Given the description of an element on the screen output the (x, y) to click on. 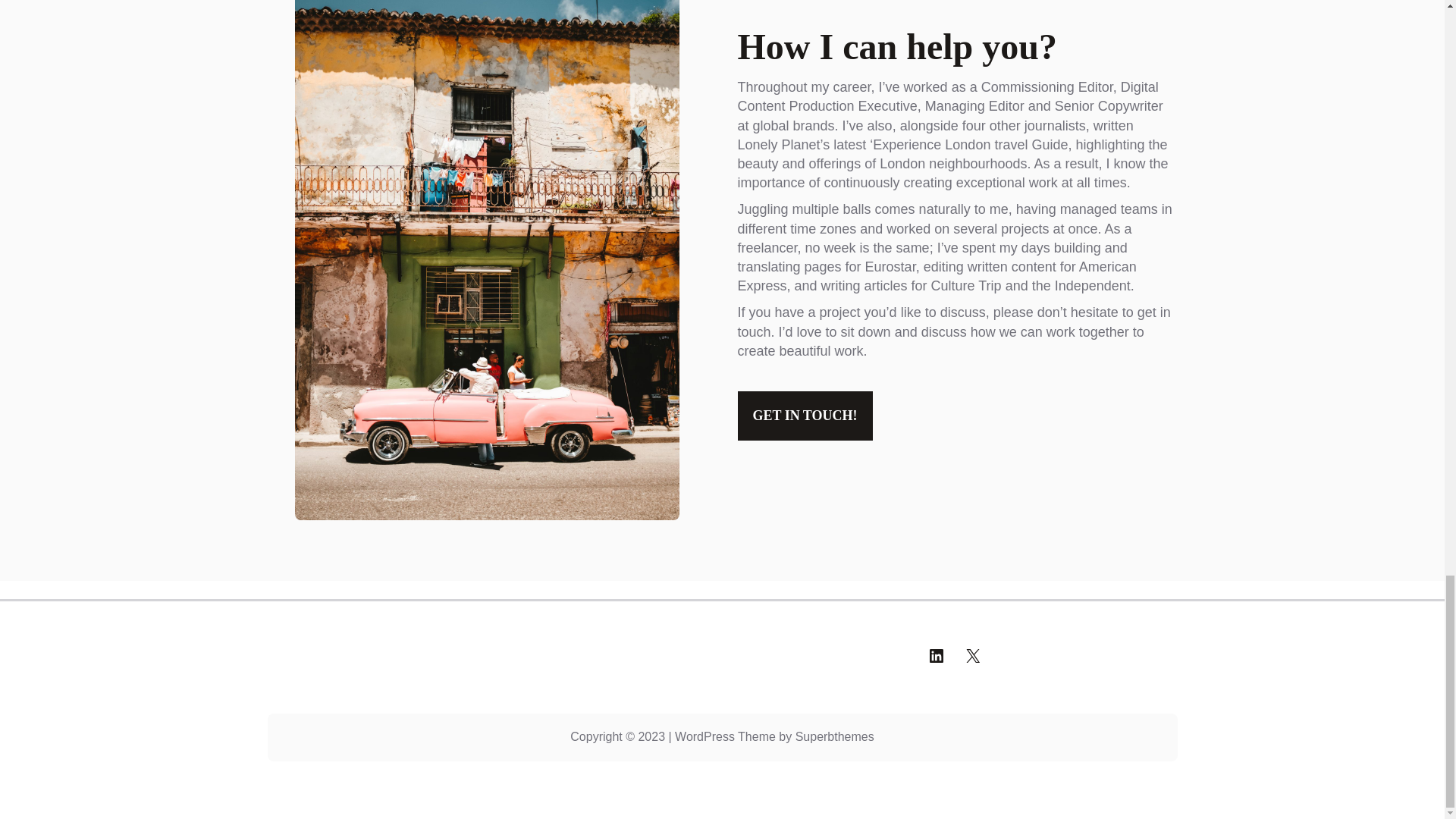
get in touch (953, 321)
LinkedIn (935, 656)
GET IN TOUCH! (804, 415)
X (971, 656)
Superbthemes (834, 736)
